Given the description of an element on the screen output the (x, y) to click on. 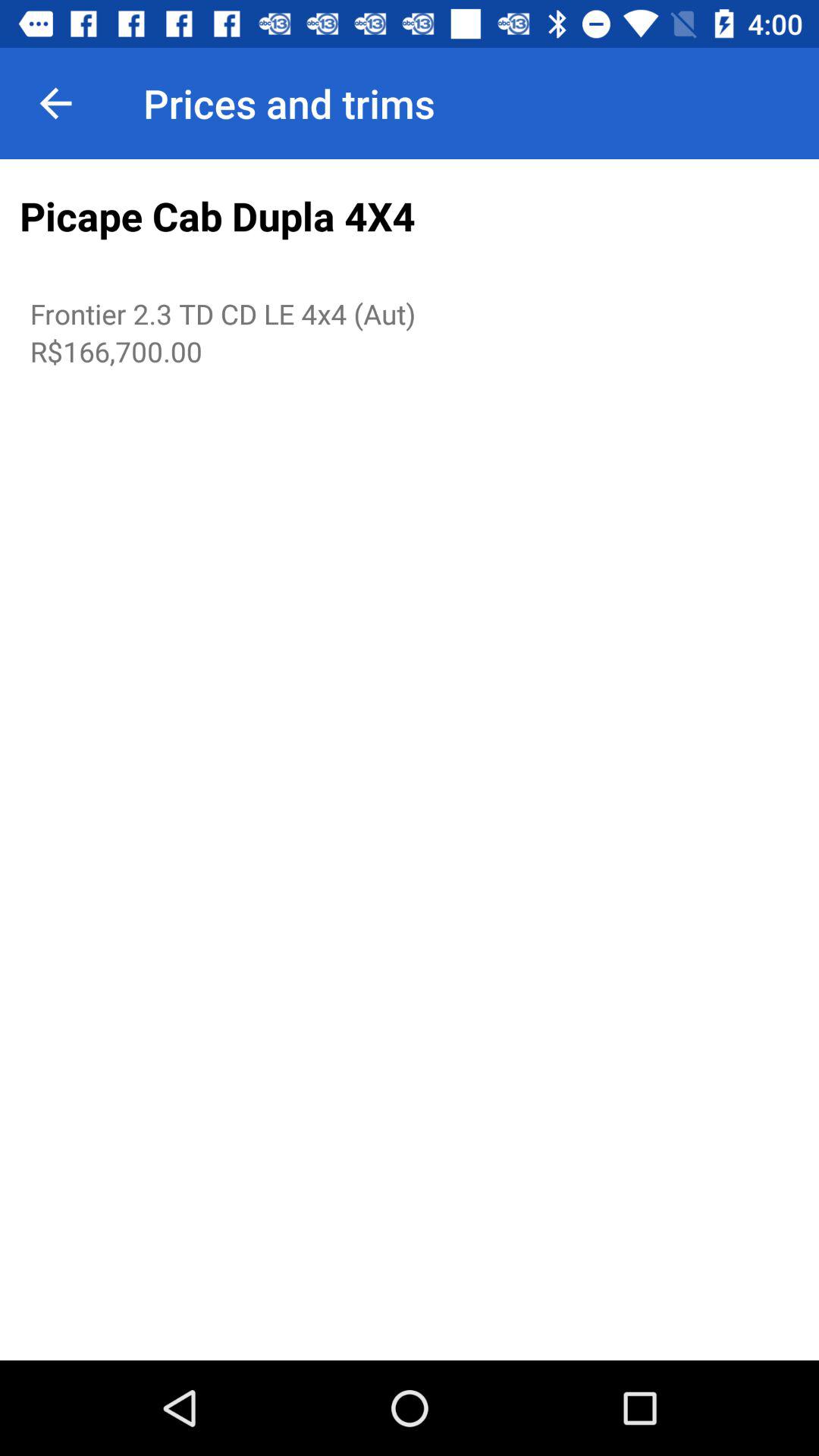
launch the item to the left of the prices and trims (55, 103)
